Given the description of an element on the screen output the (x, y) to click on. 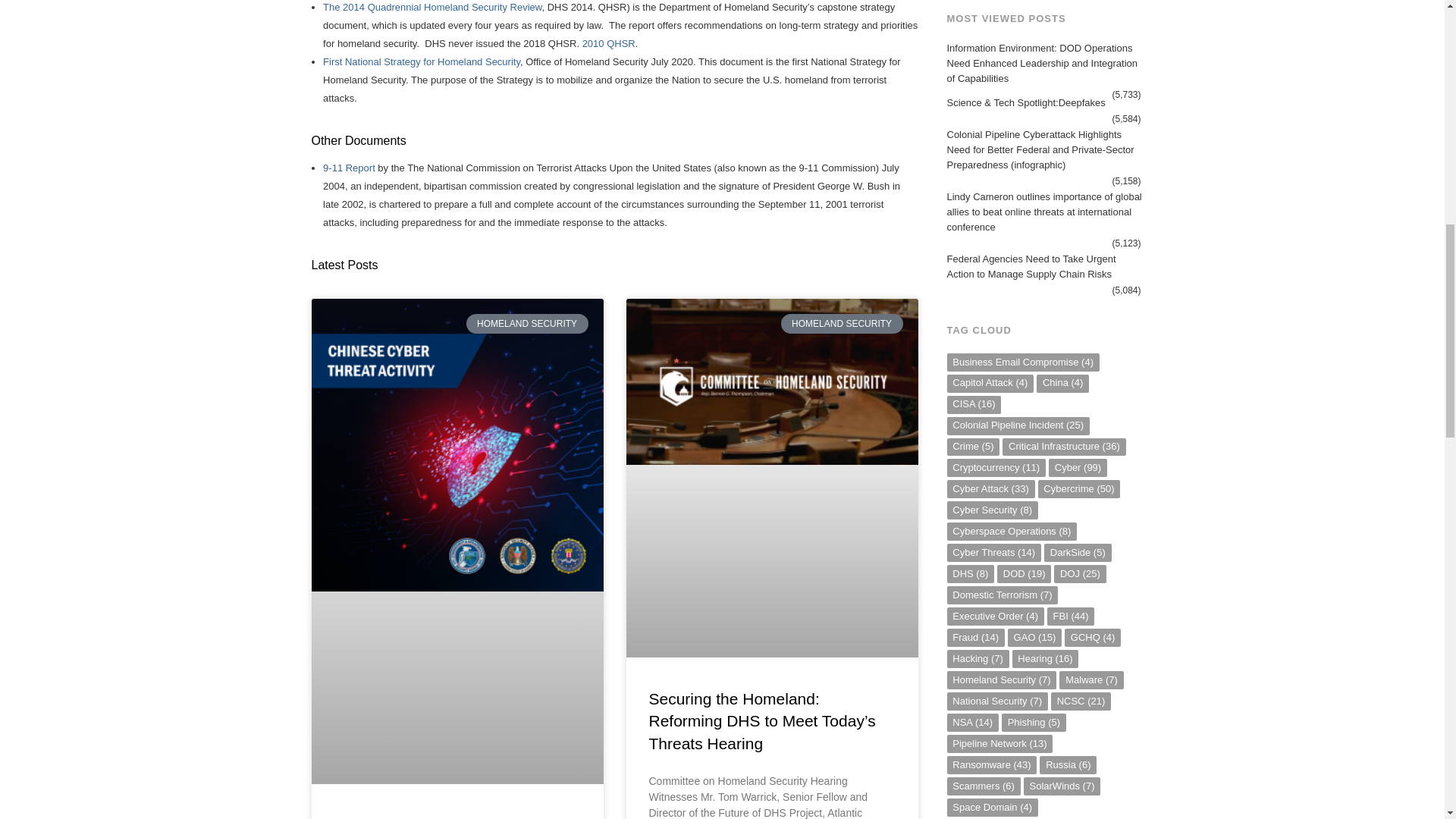
9-11 Report (349, 167)
2010 QHSR (608, 43)
First National Strategy for Homeland Security (421, 61)
The 2014 Quadrennial Homeland Security Review (432, 7)
